Given the description of an element on the screen output the (x, y) to click on. 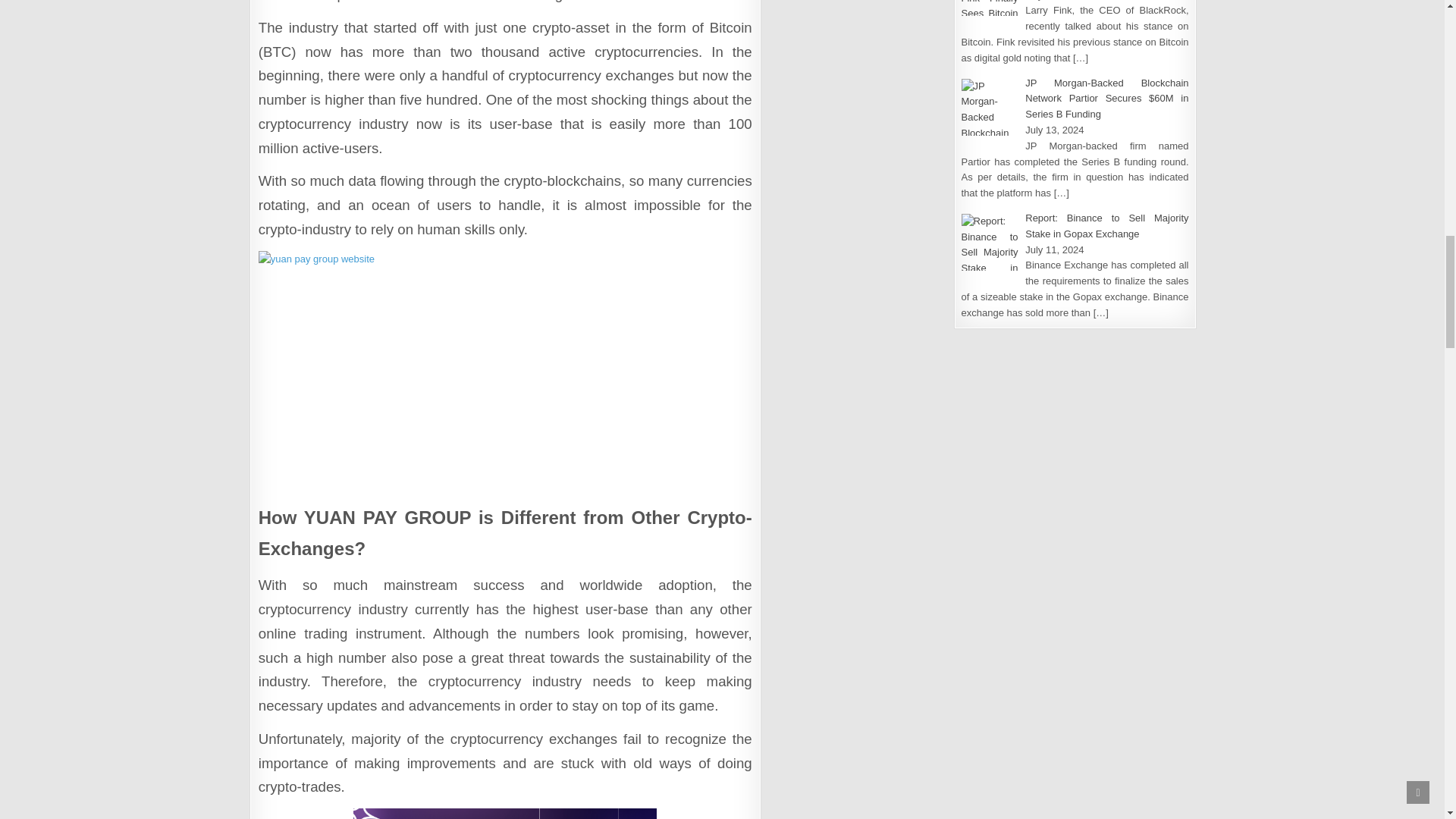
Cypher Mind HQ (504, 813)
